Given the description of an element on the screen output the (x, y) to click on. 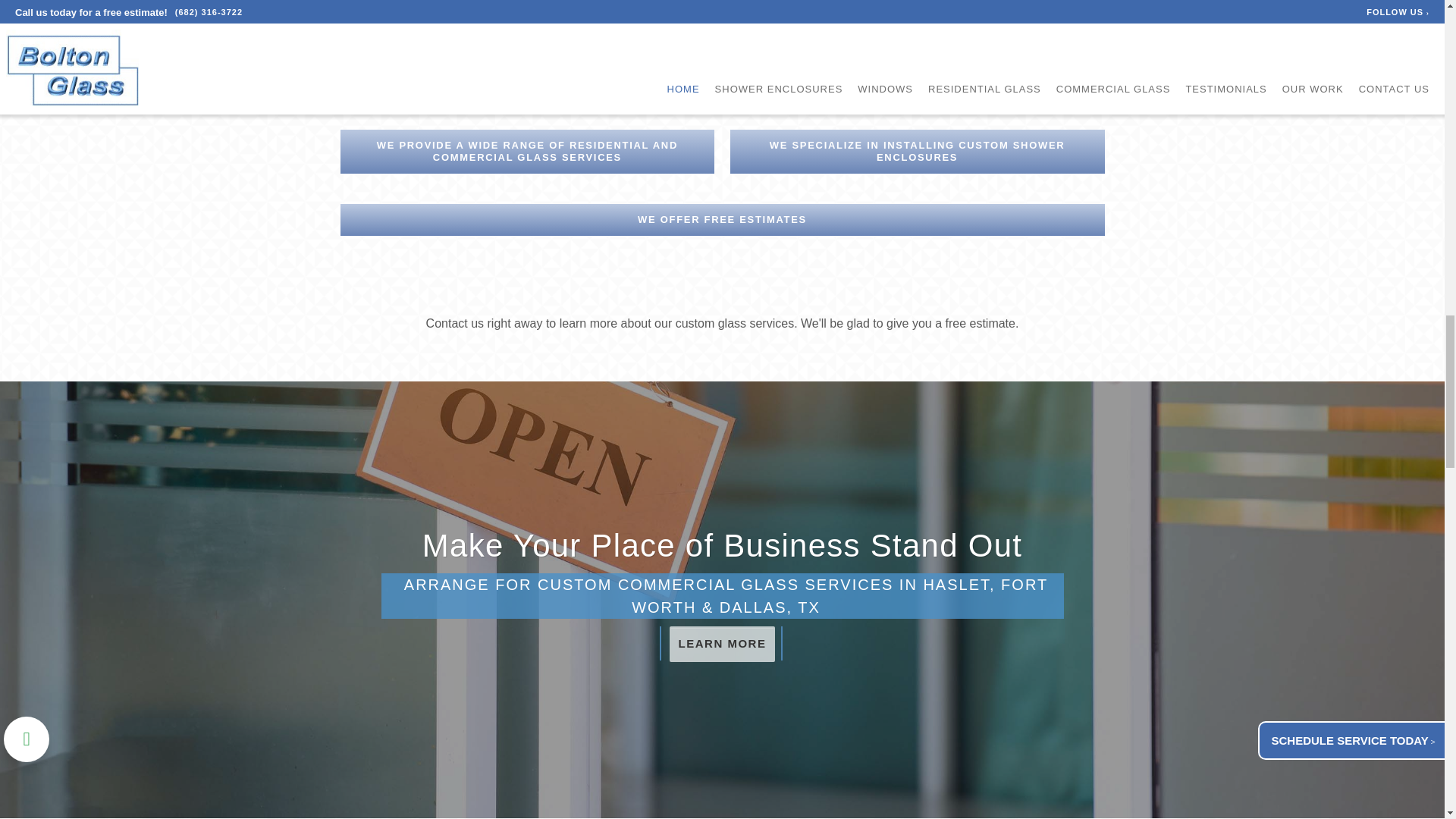
Make Your Place of Business Stand Out (722, 545)
LEARN MORE (722, 643)
